Given the description of an element on the screen output the (x, y) to click on. 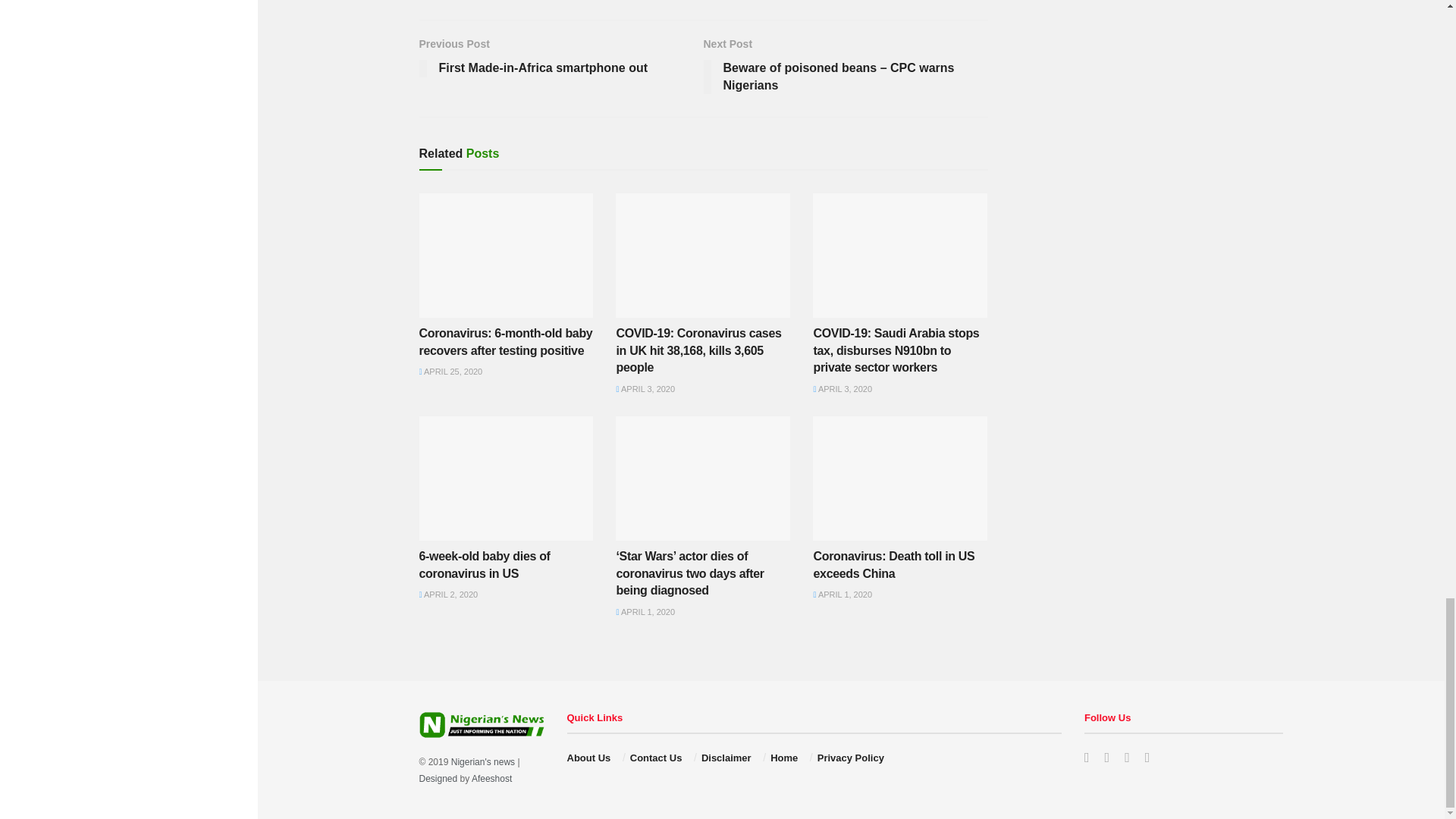
Nigerian's news (483, 761)
Website Design in Nigeria (438, 778)
Cheap Web Hosting Company in Nigeria  (491, 778)
